Given the description of an element on the screen output the (x, y) to click on. 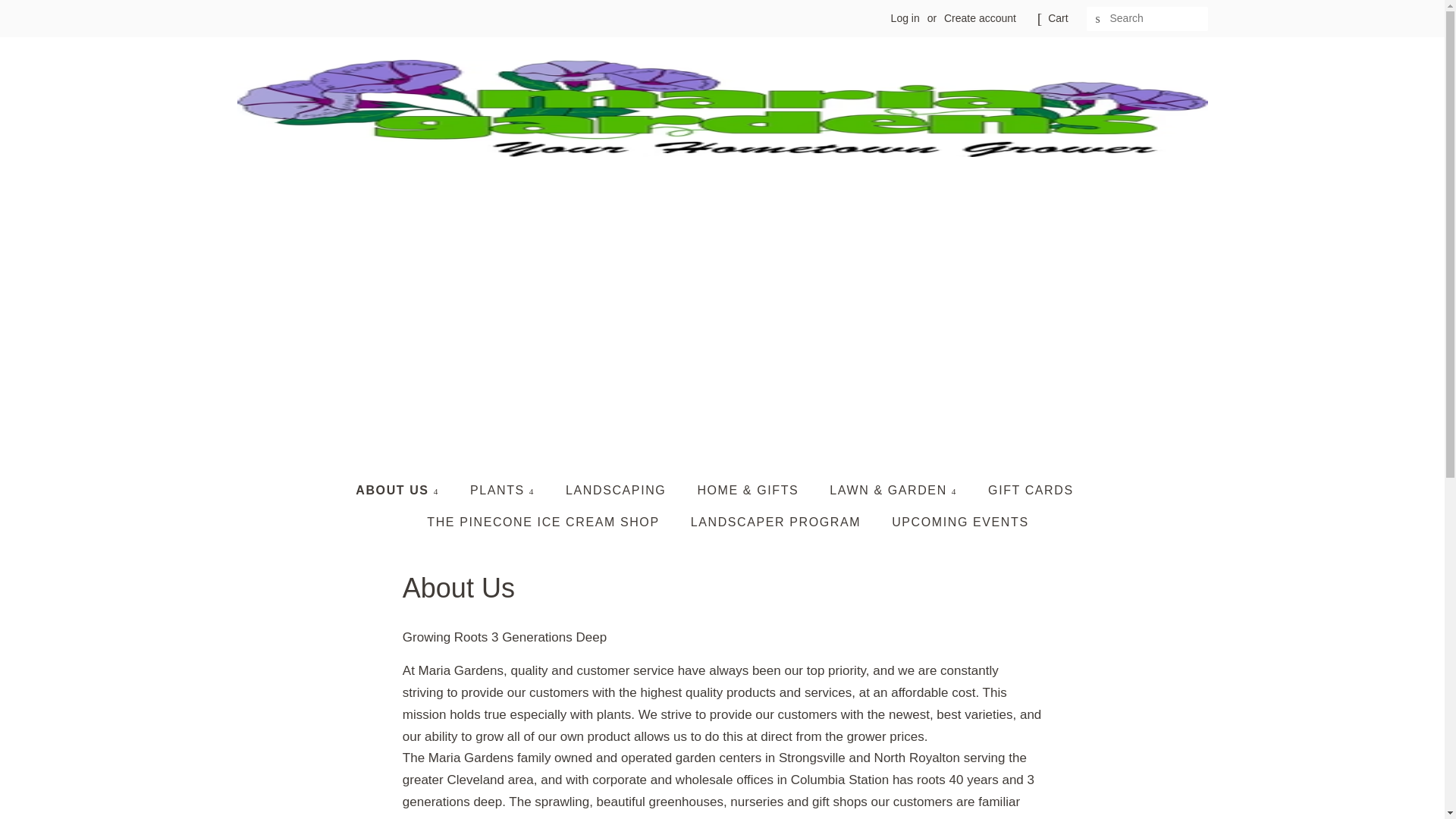
PLANTS (504, 490)
SEARCH (1097, 18)
Cart (1057, 18)
ABOUT US (404, 490)
Log in (905, 18)
Create account (979, 18)
